Given the description of an element on the screen output the (x, y) to click on. 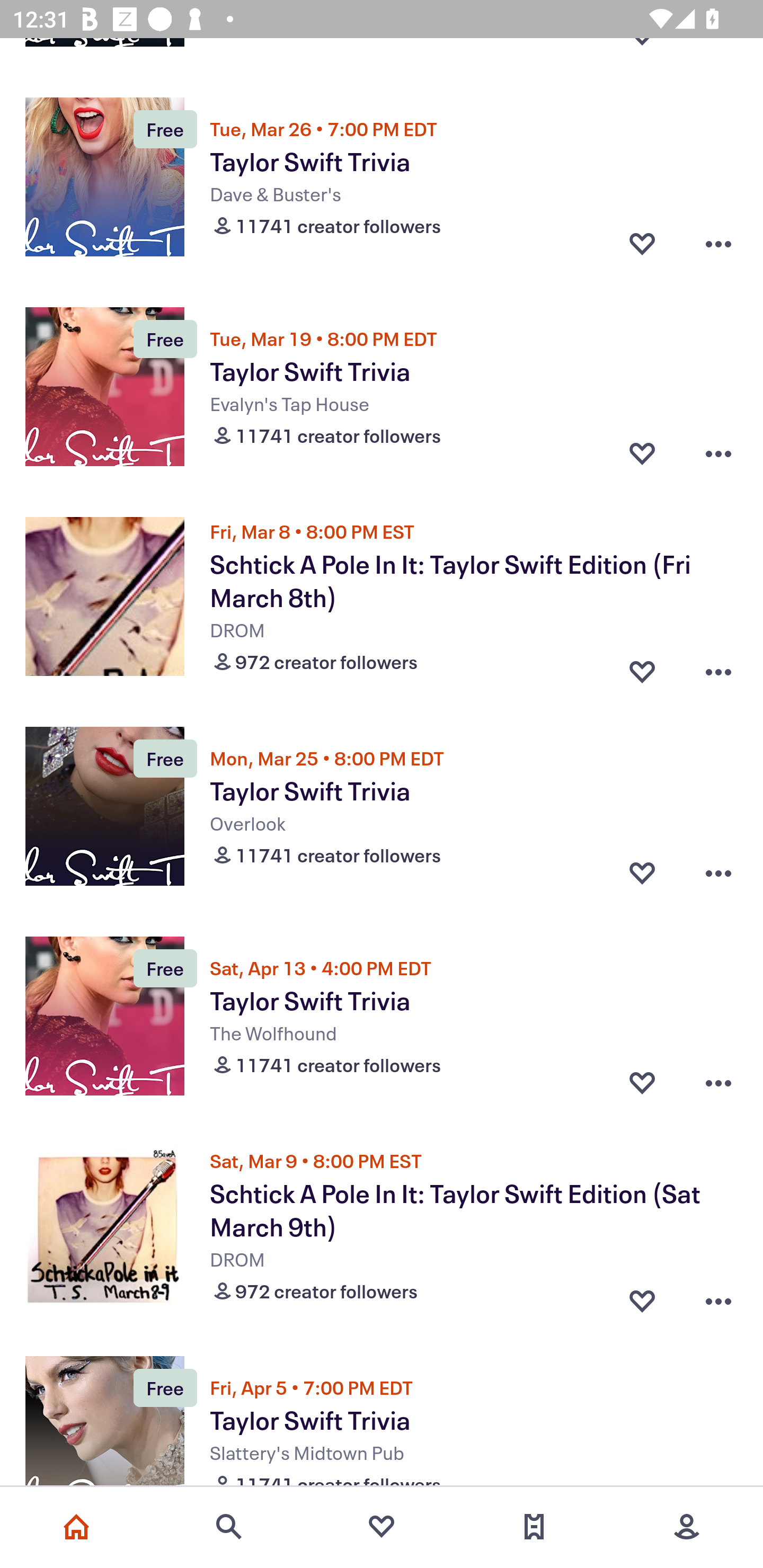
Favorite button (642, 243)
Overflow menu button (718, 243)
Favorite button (642, 453)
Overflow menu button (718, 453)
Favorite button (642, 666)
Overflow menu button (718, 666)
Favorite button (642, 873)
Overflow menu button (718, 873)
Favorite button (642, 1083)
Overflow menu button (718, 1083)
Favorite button (642, 1297)
Overflow menu button (718, 1297)
Home (76, 1526)
Search events (228, 1526)
Favorites (381, 1526)
Tickets (533, 1526)
More (686, 1526)
